Given the description of an element on the screen output the (x, y) to click on. 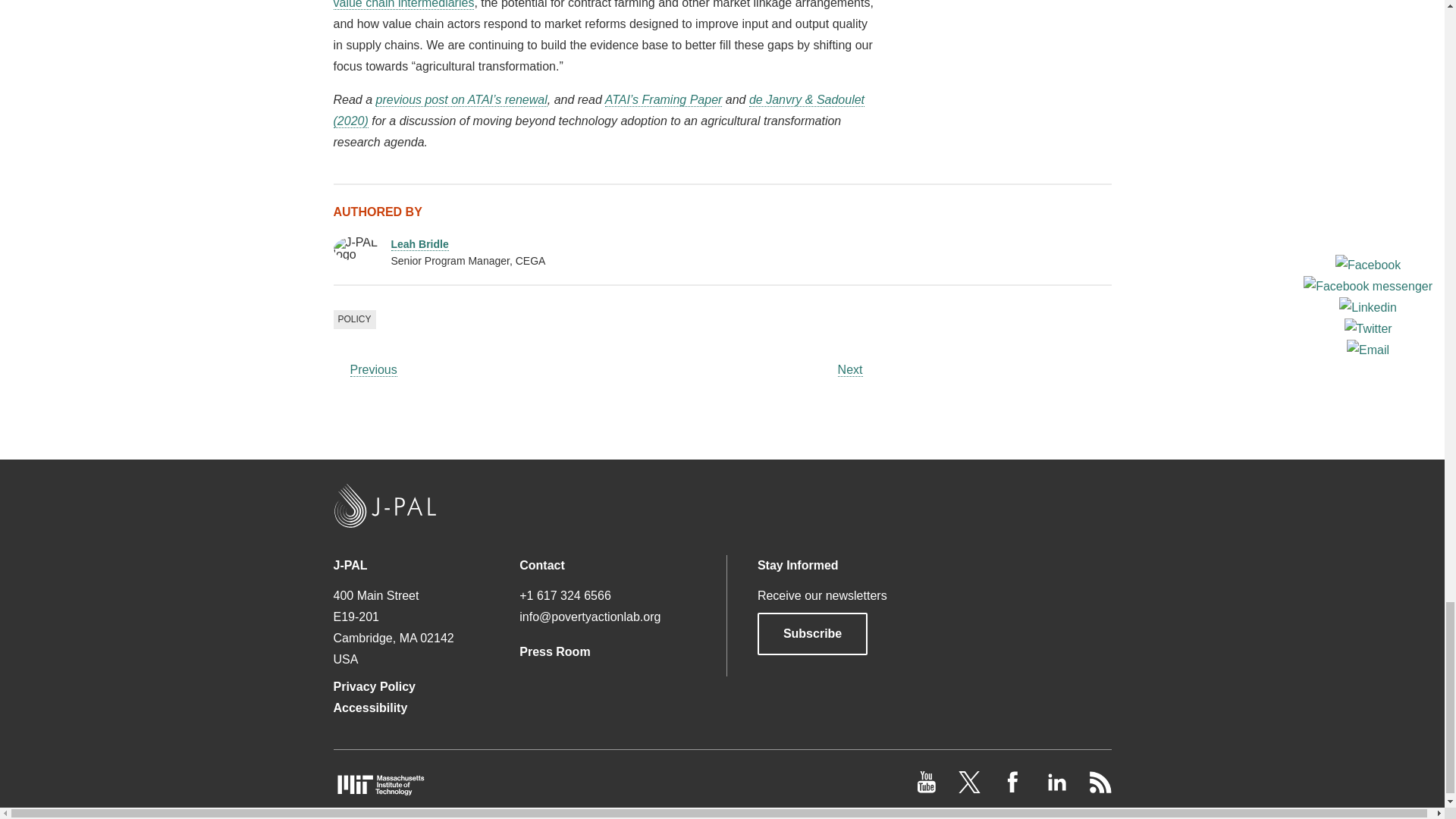
LinkedIn (1057, 788)
J-PAL logo (355, 248)
twitter (971, 788)
rss feed (1099, 788)
facebook (1015, 788)
youtube (927, 788)
